Given the description of an element on the screen output the (x, y) to click on. 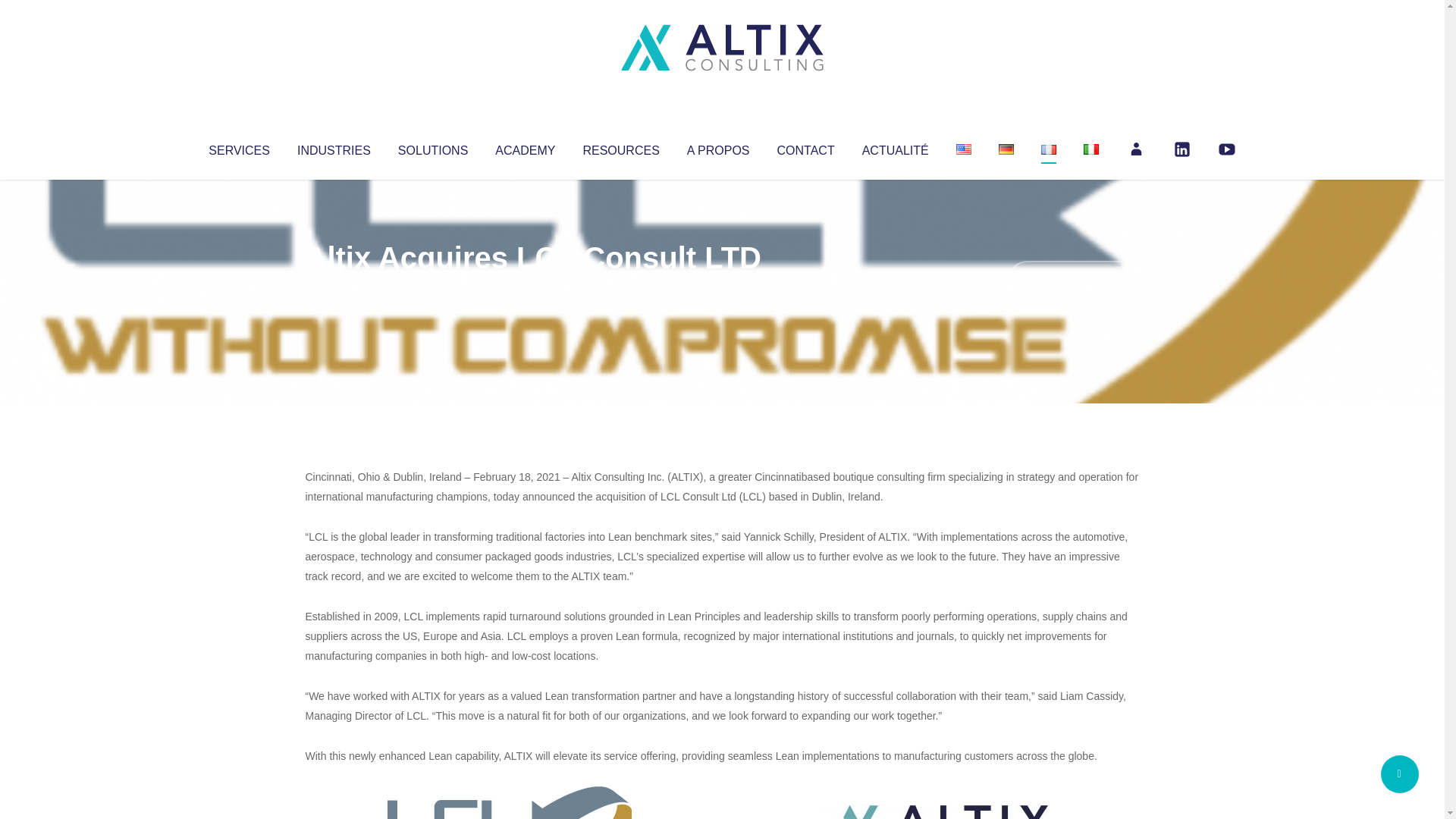
No Comments (1073, 278)
INDUSTRIES (334, 146)
SERVICES (238, 146)
A PROPOS (718, 146)
Uncategorized (530, 287)
SOLUTIONS (432, 146)
RESOURCES (620, 146)
Altix (333, 287)
ACADEMY (524, 146)
Articles par Altix (333, 287)
